Given the description of an element on the screen output the (x, y) to click on. 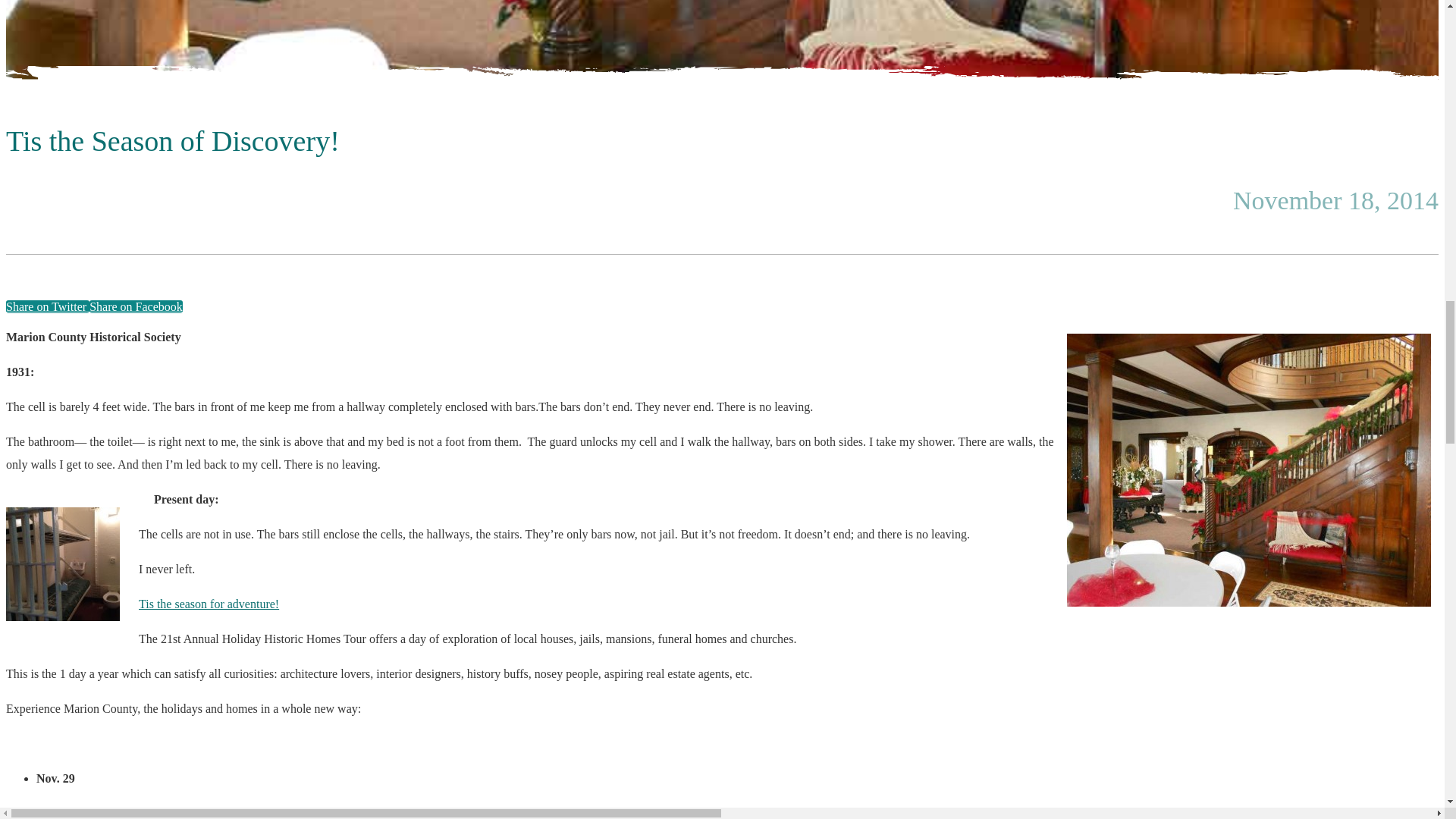
Tweet this! (46, 306)
Share on Facebook! (135, 306)
